Given the description of an element on the screen output the (x, y) to click on. 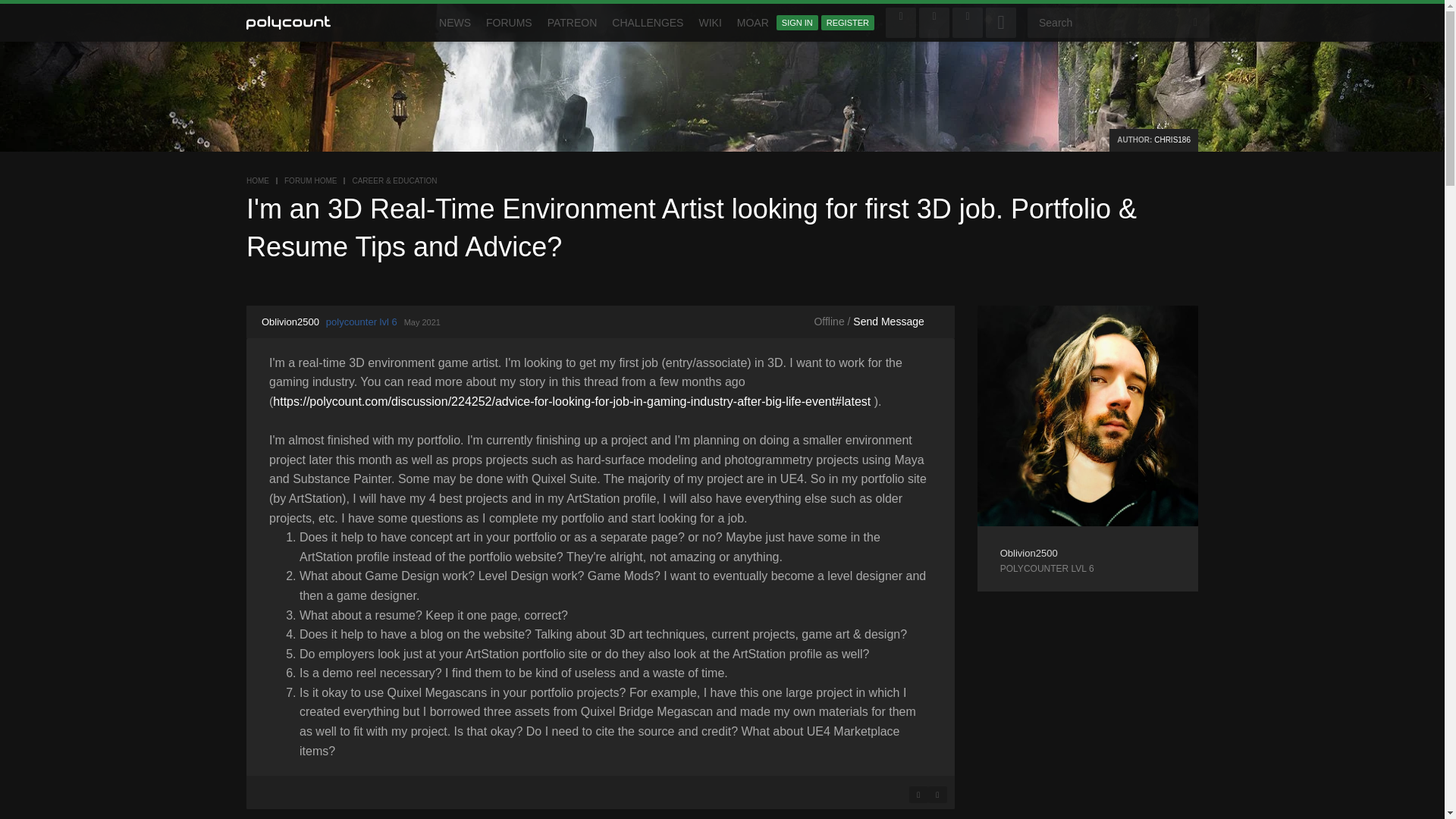
Sign In with Twitter (933, 22)
SHARE ON TWITTER (937, 794)
Send Message (888, 321)
Enter your search term. (1118, 22)
SIGN IN (797, 22)
SHARE ON FACEBOOK (918, 794)
May 2021 (422, 321)
Sign In with OpenID (967, 22)
PATREON (572, 22)
polycounter lvl 6 (1087, 568)
